Given the description of an element on the screen output the (x, y) to click on. 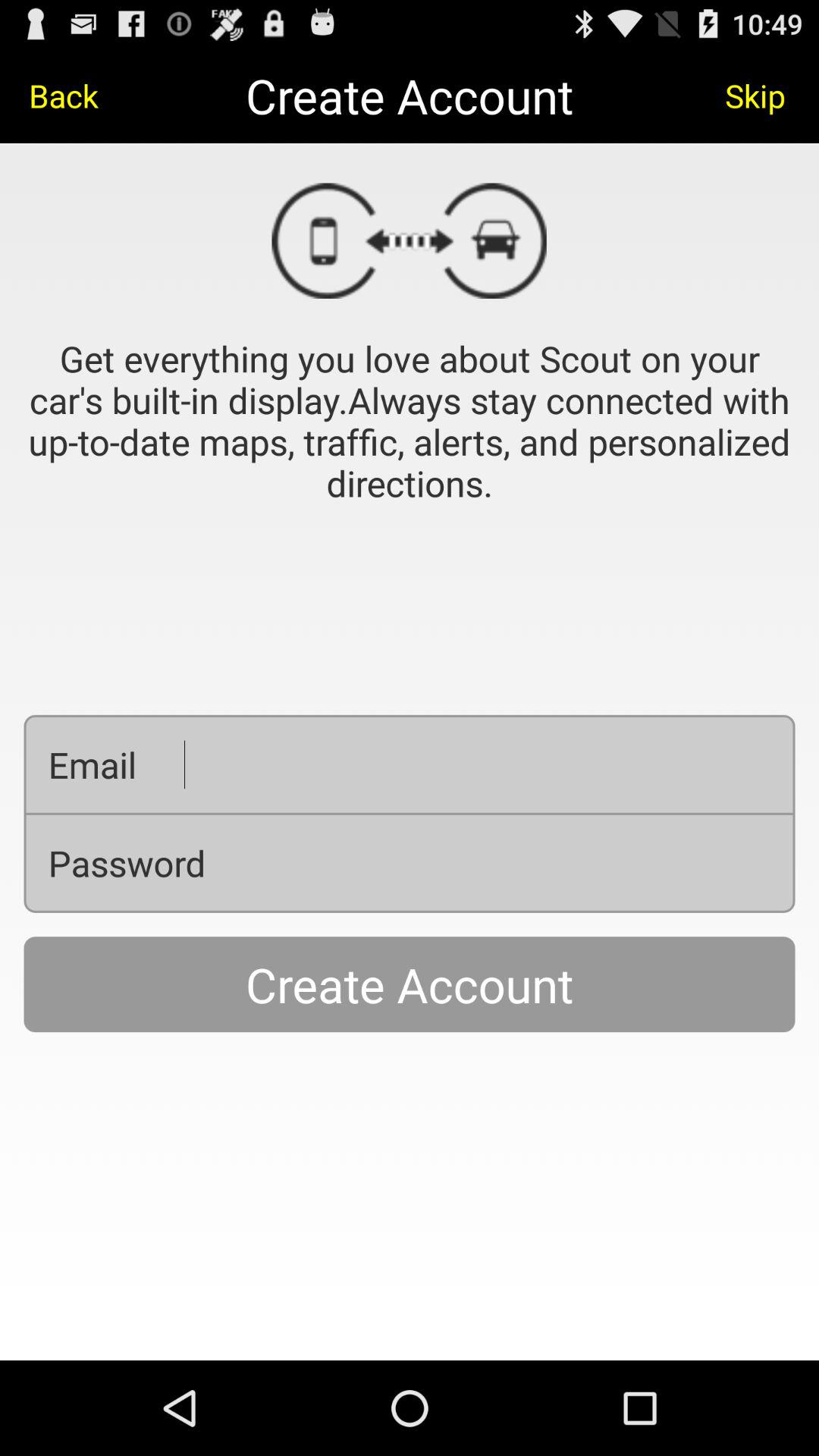
enter your correct password (511, 862)
